Given the description of an element on the screen output the (x, y) to click on. 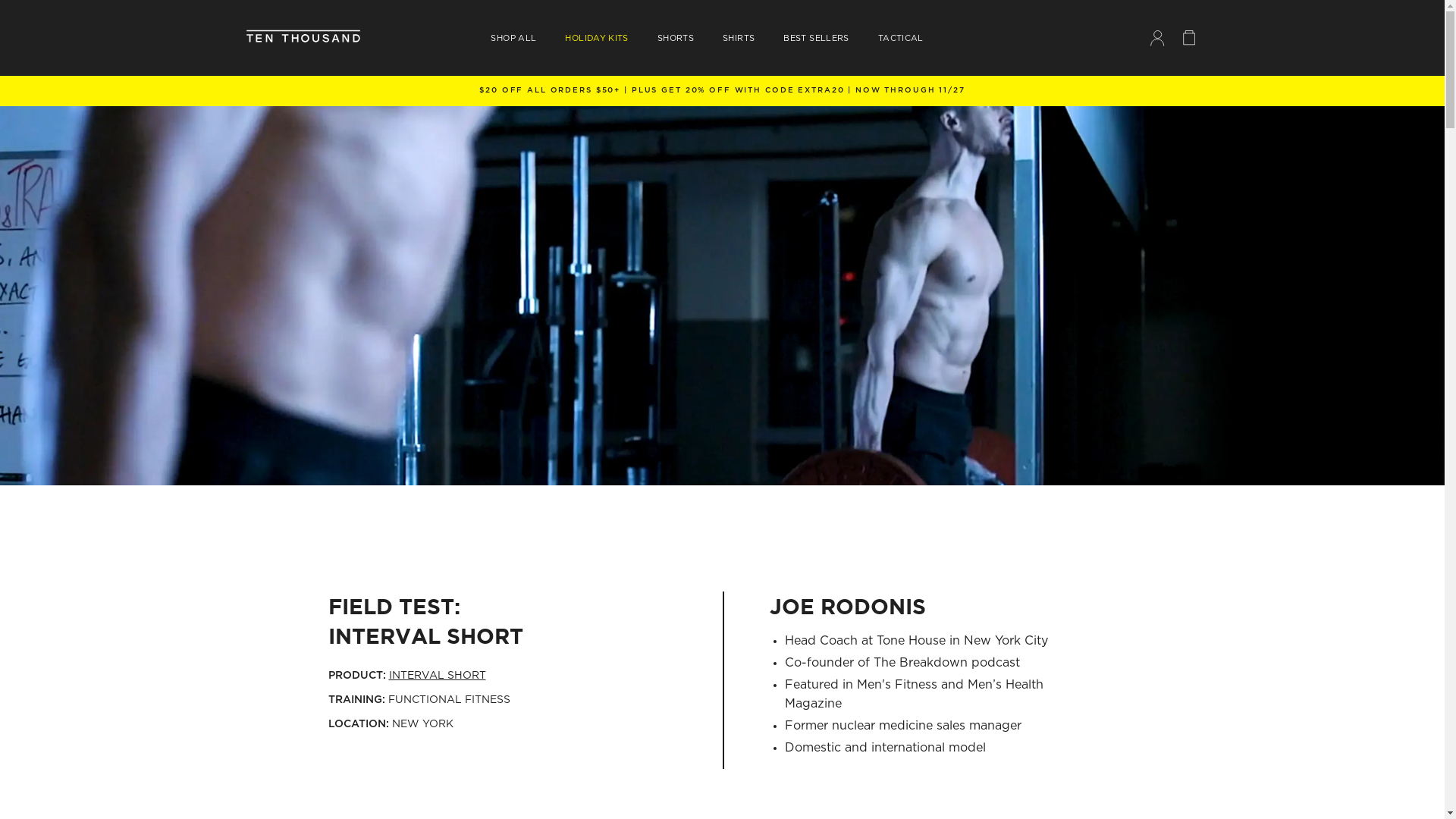
SHIRTS Element type: text (738, 38)
HOLIDAY KITS Element type: text (596, 38)
INTERVAL SHORT Element type: text (436, 675)
FREE SHIPPING ON ORDERS $150+ Element type: text (721, 90)
TACTICAL Element type: text (900, 38)
BEST SELLERS Element type: text (815, 38)
SHOP ALL Element type: text (513, 38)
SHORTS Element type: text (675, 38)
